Given the description of an element on the screen output the (x, y) to click on. 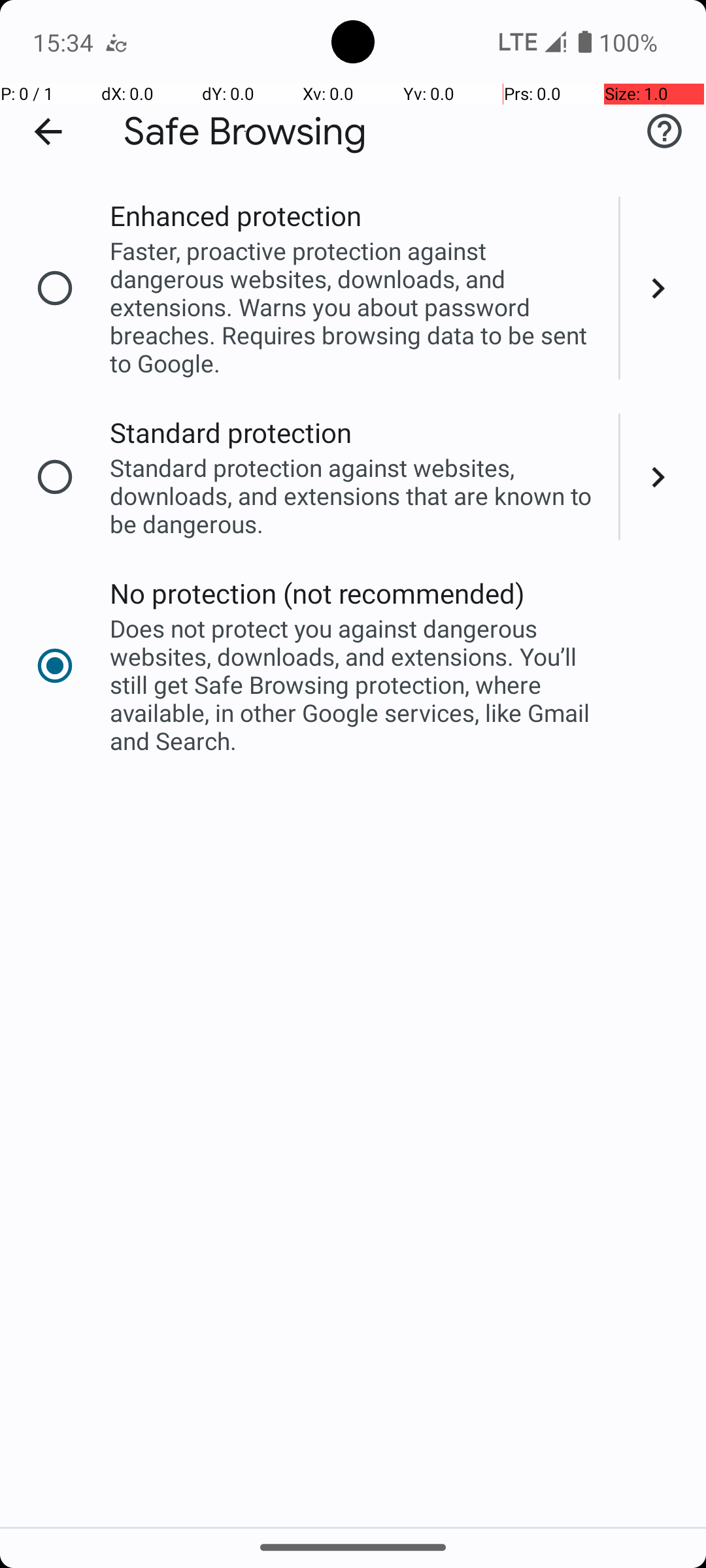
Safe Browsing Element type: android.widget.TextView (244, 131)
Enhanced protection Element type: android.widget.TextView (235, 214)
Faster, proactive protection against dangerous websites, downloads, and extensions. Warns you about password breaches. Requires browsing data to be sent to Google. Element type: android.widget.TextView (355, 306)
Standard protection Element type: android.widget.TextView (230, 431)
Standard protection against websites, downloads, and extensions that are known to be dangerous. Element type: android.widget.TextView (355, 495)
No protection (not recommended) Element type: android.widget.TextView (317, 592)
Does not protect you against dangerous websites, downloads, and extensions. You’ll still get Safe Browsing protection, where available, in other Google services, like Gmail and Search. Element type: android.widget.TextView (355, 684)
